Given the description of an element on the screen output the (x, y) to click on. 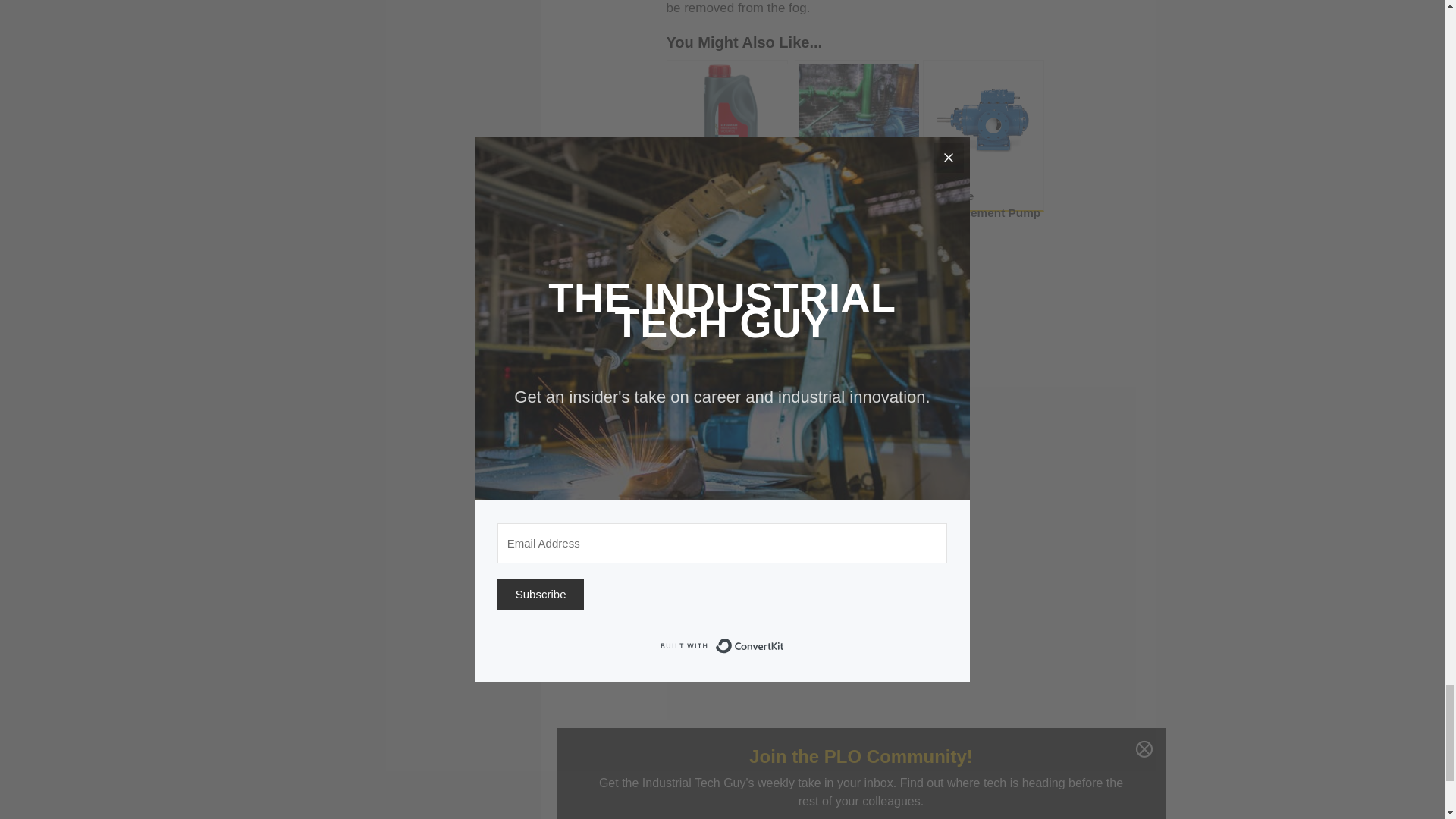
Pumps: Types and Operation (854, 135)
2-Phase vs 3-Phase (726, 295)
2-Phase vs 3-Phase (726, 295)
Pumps: Types and Operation (854, 135)
